Given the description of an element on the screen output the (x, y) to click on. 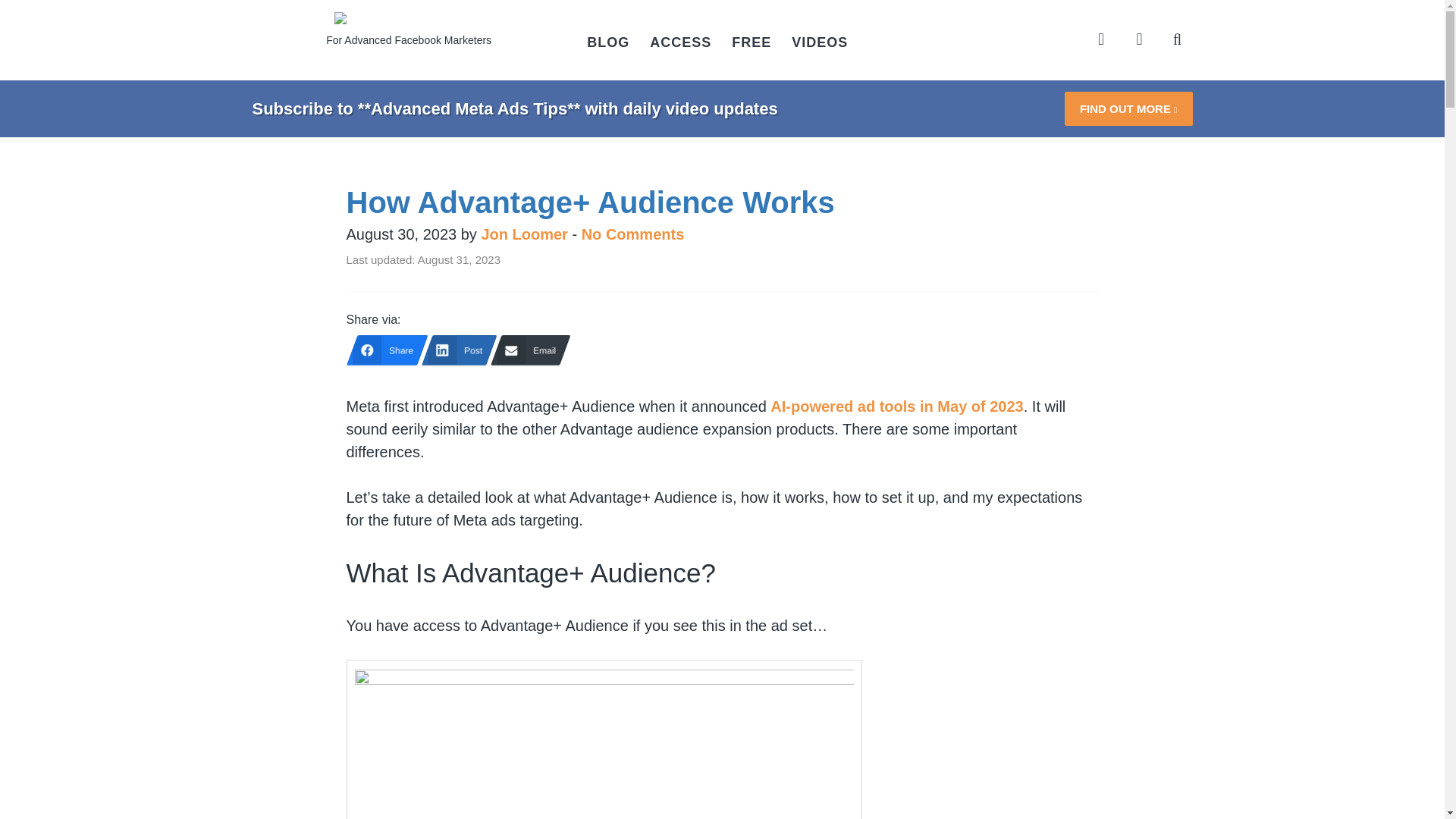
Jon Loomer Digital (408, 23)
BLOG (608, 42)
AI-powered ad tools in May of 2023 (896, 406)
VIDEOS (820, 42)
FREE (751, 42)
Email (524, 349)
FIND OUT MORE (1128, 108)
Share (381, 349)
Jon Loomer (523, 234)
ACCESS (681, 42)
